Given the description of an element on the screen output the (x, y) to click on. 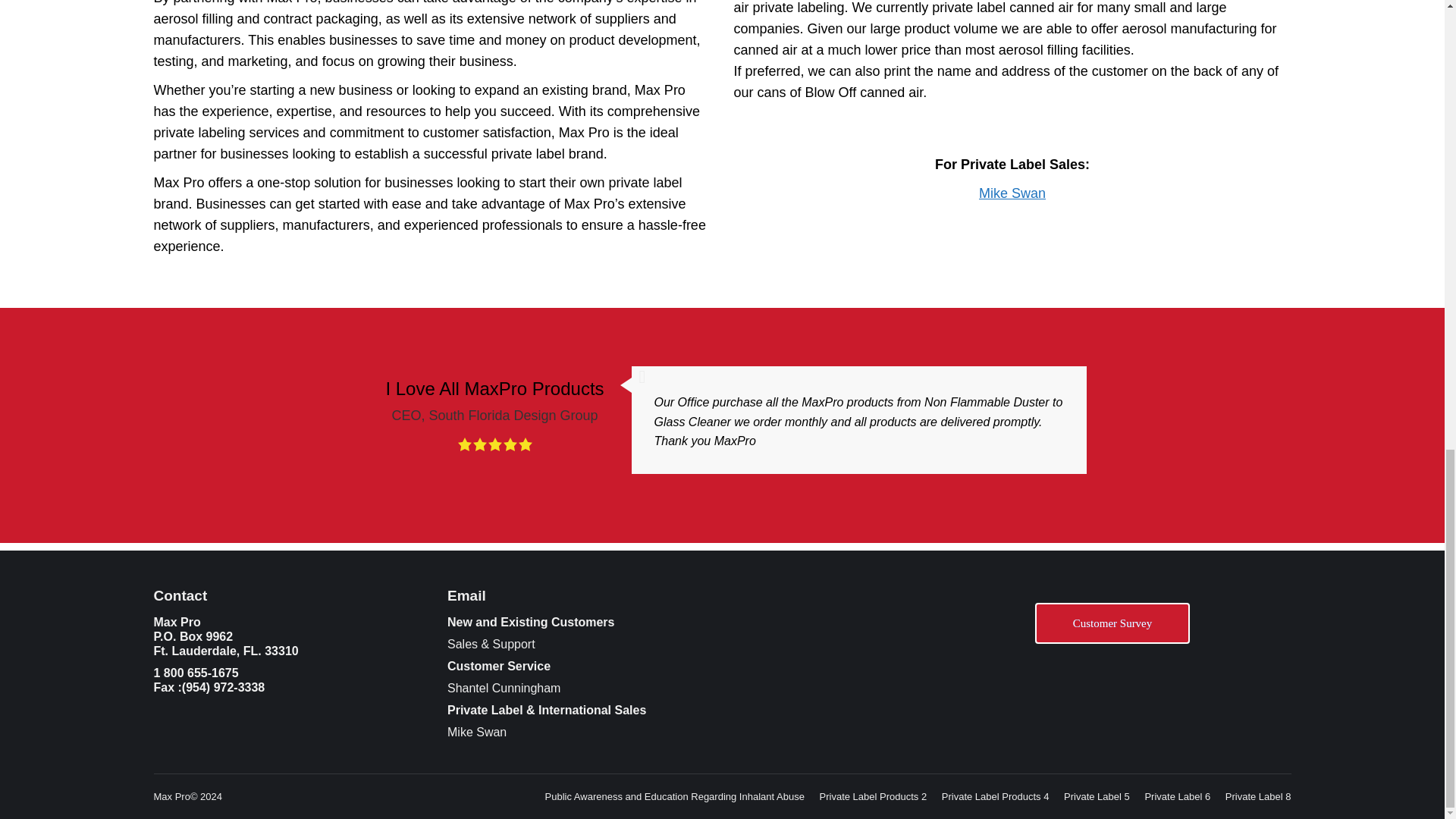
Customer Survey (1112, 622)
Shantel Cunningham (503, 687)
Private Label Products 2 (873, 796)
Mike Swan (1011, 192)
Private Label Products 4 (995, 796)
Mike Swan (476, 731)
Public Awareness and Education Regarding Inhalant Abuse (674, 796)
